Given the description of an element on the screen output the (x, y) to click on. 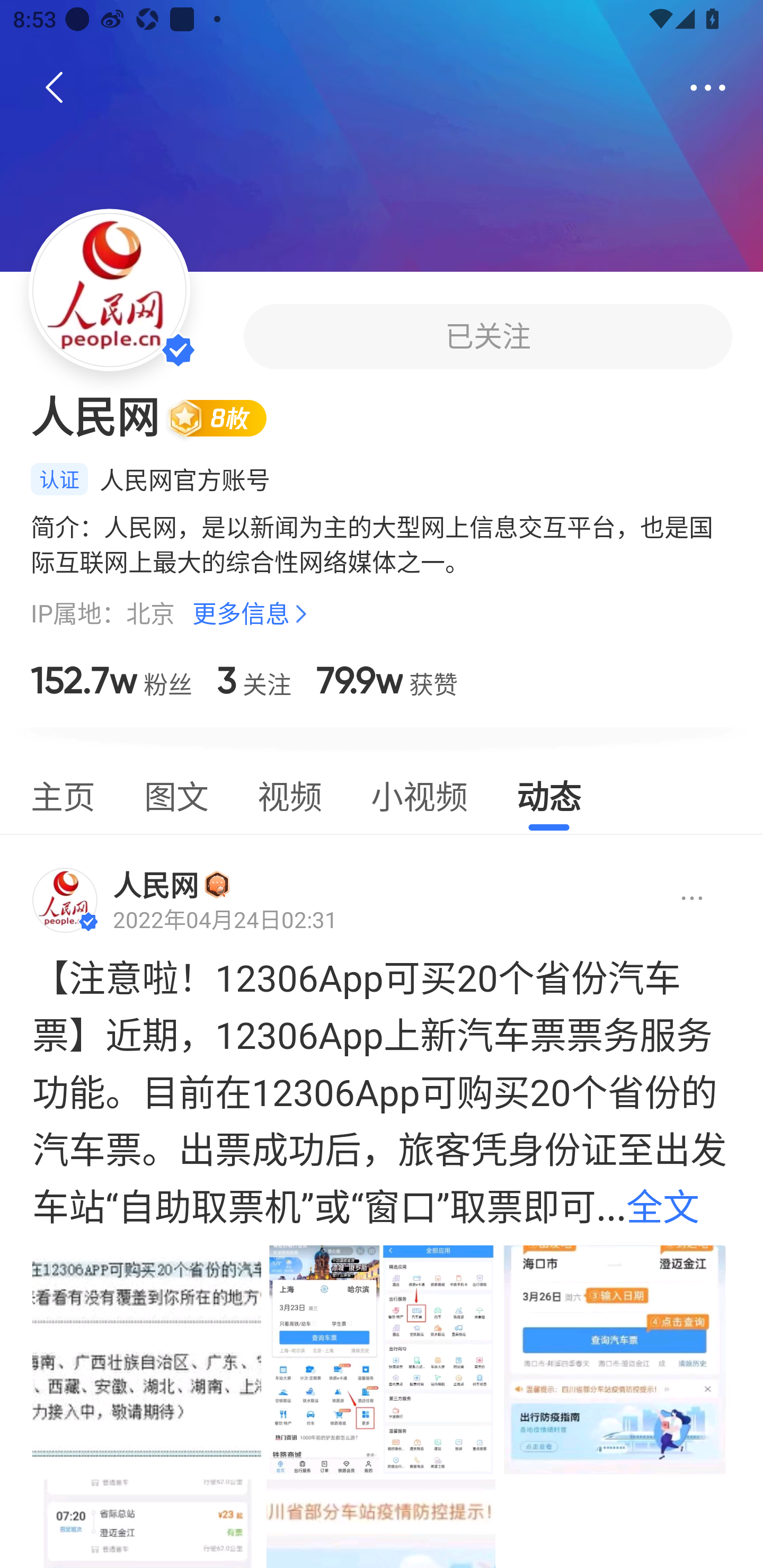
 返回 (54, 87)
 更多 (707, 87)
已关注 (487, 336)
8枚 (224, 417)
认证 (58, 478)
简介：人民网，是以新闻为主的大型网上信息交互平台，也是国际互联网上最大的综合性网络媒体之一。 (381, 543)
152.7w 粉丝 (111, 680)
3 关注 (253, 680)
79.9w 获赞 (386, 680)
主页 (62, 793)
图文 (176, 793)
视频 (289, 793)
小视频 (419, 793)
动态 (548, 793)
人民网 (155, 884)
 (676, 899)
勋章 (216, 884)
2022年04月24日02:31 (224, 919)
